Given the description of an element on the screen output the (x, y) to click on. 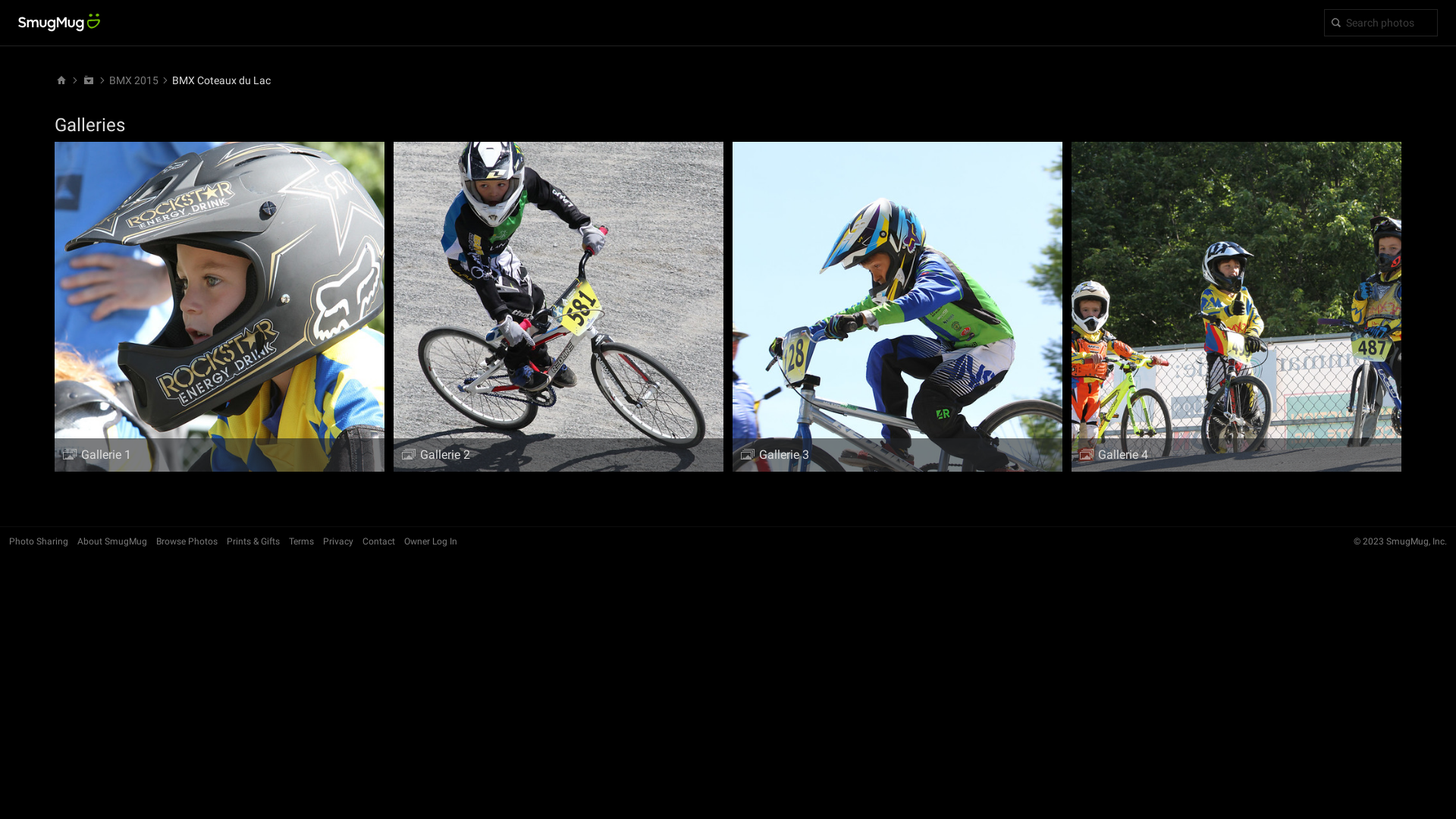
Photo Sharing Element type: text (38, 541)
BMX 2015 Element type: text (133, 80)
SmugMug Element type: hover (59, 22)
Gallerie 2 Element type: text (558, 306)
Owner Log In Element type: text (430, 541)
Gallerie 1 Element type: text (219, 306)
Search "BMX Coteaux du Lac" for photos Element type: hover (1380, 22)
Privacy Element type: text (338, 541)
Prints & Gifts Element type: text (252, 541)
Gallerie 3 Element type: text (897, 306)
Gallerie 4 Element type: text (1236, 306)
Contact Element type: text (378, 541)
About SmugMug Element type: text (112, 541)
Browse Photos Element type: text (186, 541)
Terms Element type: text (300, 541)
